Given the description of an element on the screen output the (x, y) to click on. 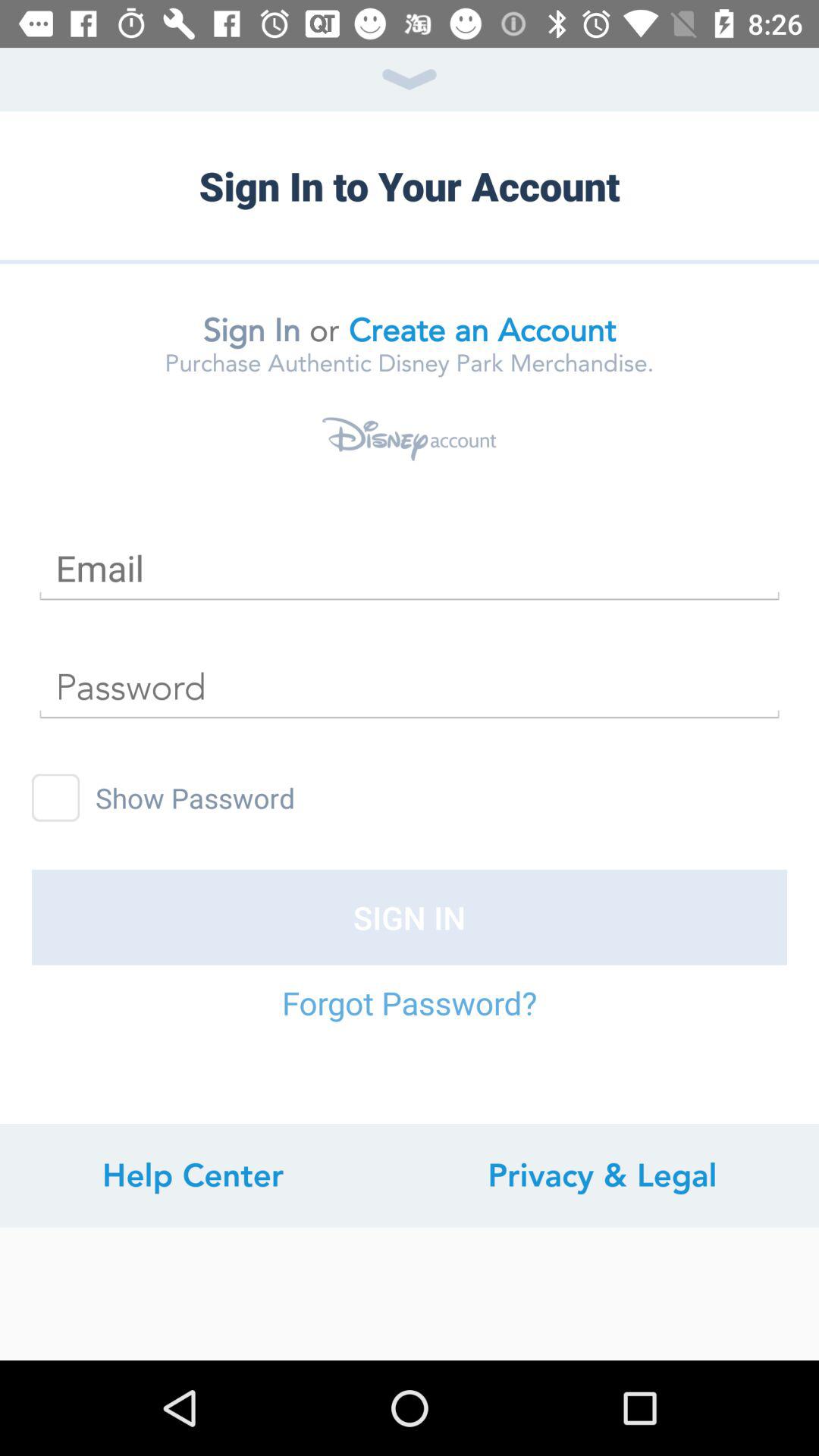
enter email id (409, 568)
